Given the description of an element on the screen output the (x, y) to click on. 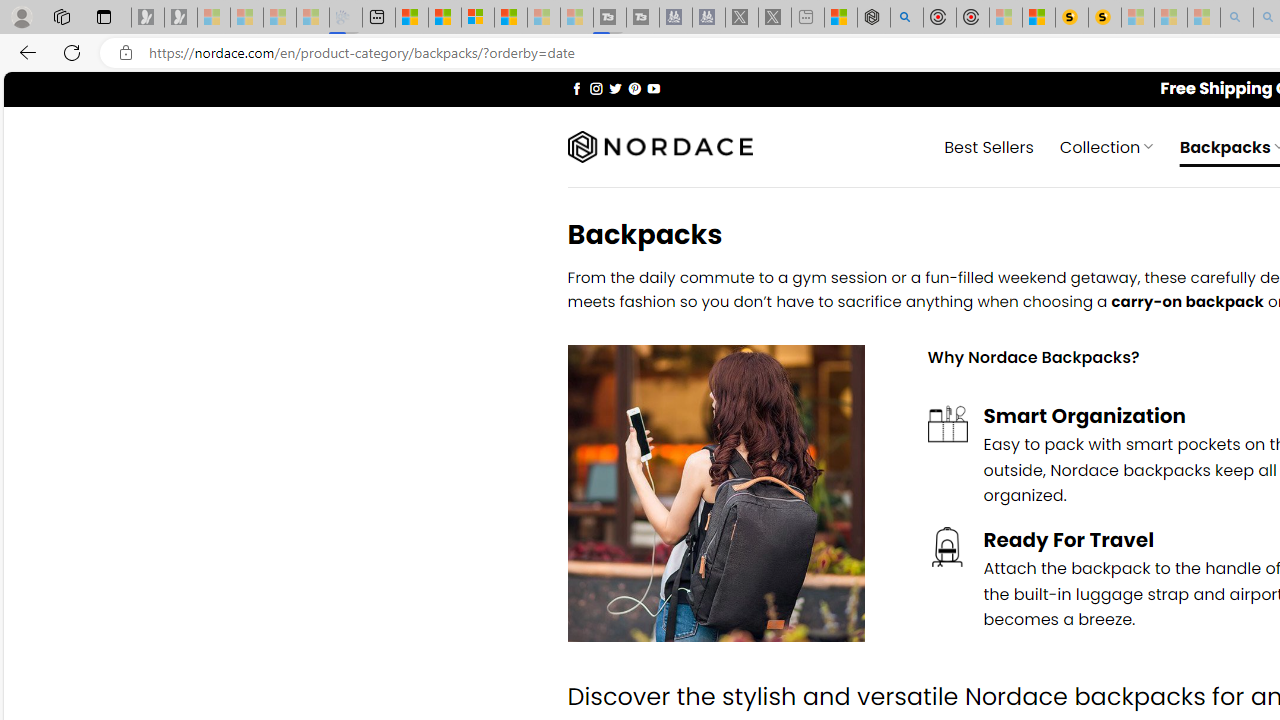
Follow on YouTube (653, 88)
Follow on Twitter (615, 88)
amazon - Search - Sleeping (1237, 17)
Overview (478, 17)
Follow on Facebook (576, 88)
